Given the description of an element on the screen output the (x, y) to click on. 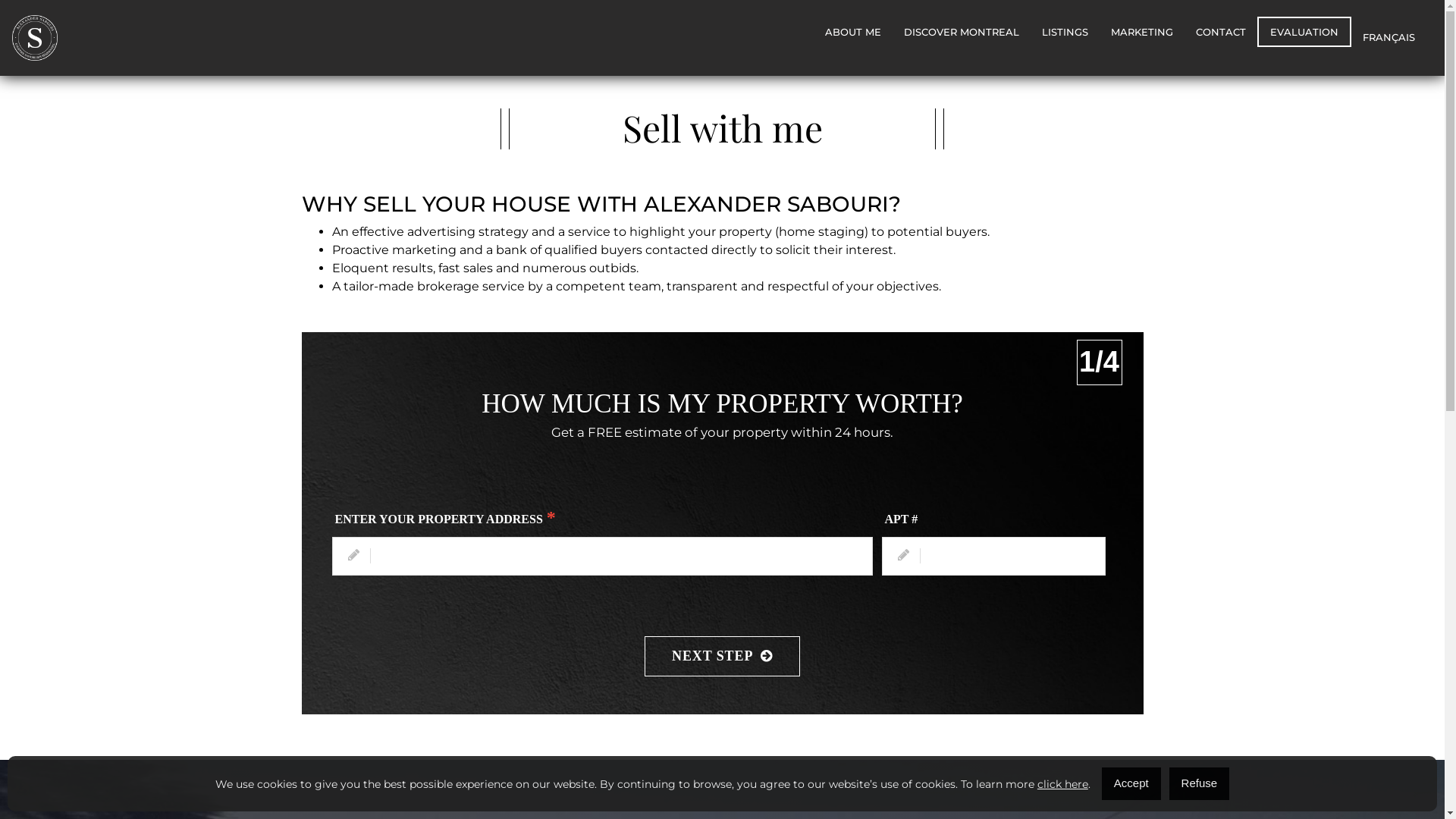
ABOUT ME Element type: text (852, 31)
EVALUATION Element type: text (1304, 31)
ALEXANDER SABOURI Element type: text (765, 203)
LISTINGS Element type: text (1064, 31)
click here Element type: text (1062, 783)
MARKETING Element type: text (1141, 31)
NEXT STEP   Element type: text (722, 656)
CONTACT Element type: text (1220, 31)
DISCOVER MONTREAL Element type: text (961, 31)
Accept Element type: text (1131, 783)
Refuse Element type: text (1199, 783)
